Given the description of an element on the screen output the (x, y) to click on. 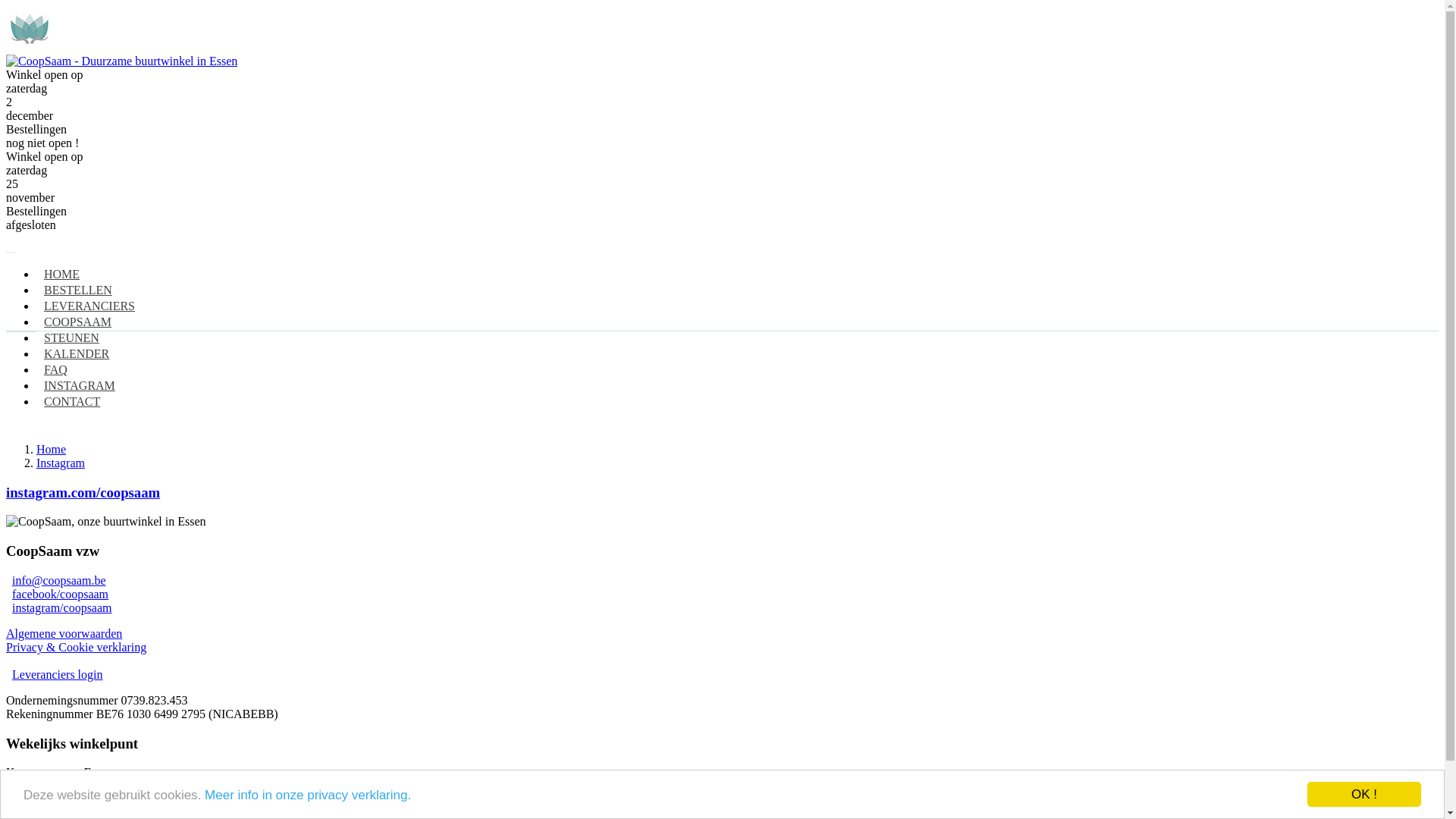
DUURZAAM CONSUMEREN Element type: text (194, 332)
INSTAGRAM Element type: text (79, 385)
Home Element type: text (50, 448)
HOME Element type: text (61, 273)
LEVERANCIERS Element type: text (88, 305)
FAQ Element type: text (55, 369)
BESTUUR Element type: text (396, 332)
COOPSAAM Element type: text (77, 321)
instagram.com/coopsaam Element type: text (83, 492)
facebook/coopsaam Element type: text (60, 593)
instagram/coopsaam Element type: text (62, 607)
Privacy & Cookie verklaring Element type: text (76, 646)
Meer info in onze privacy verklaring. Element type: text (307, 794)
info@coopsaam.be Element type: text (59, 580)
CONTACT Element type: text (71, 401)
LOCATIE Element type: text (320, 332)
BE76 1030 6499 2795 (NICABEBB) Element type: text (187, 713)
OK ! Element type: text (1364, 793)
Instagram Element type: text (60, 462)
0739.823.453 Element type: text (154, 699)
Leveranciers login Element type: text (57, 674)
BESTELLEN Element type: text (77, 289)
MISSIE Element type: text (73, 332)
Algemene voorwaarden Element type: text (64, 633)
KALENDER Element type: text (76, 353)
STEUNEN Element type: text (71, 337)
